Given the description of an element on the screen output the (x, y) to click on. 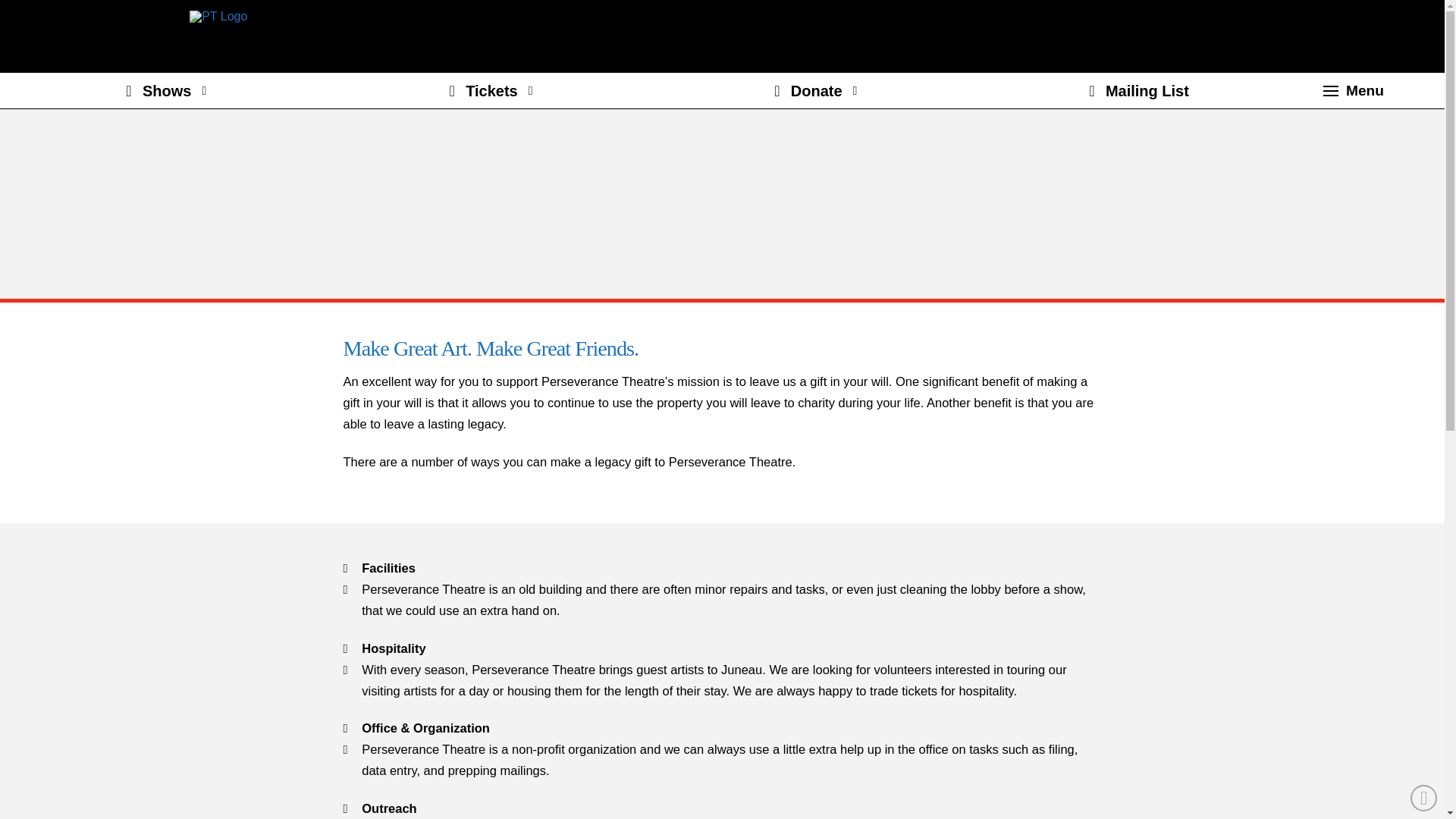
Back to Top (1423, 797)
Shows (162, 90)
Tickets (486, 90)
Mailing List (1136, 90)
Donate (811, 90)
